Given the description of an element on the screen output the (x, y) to click on. 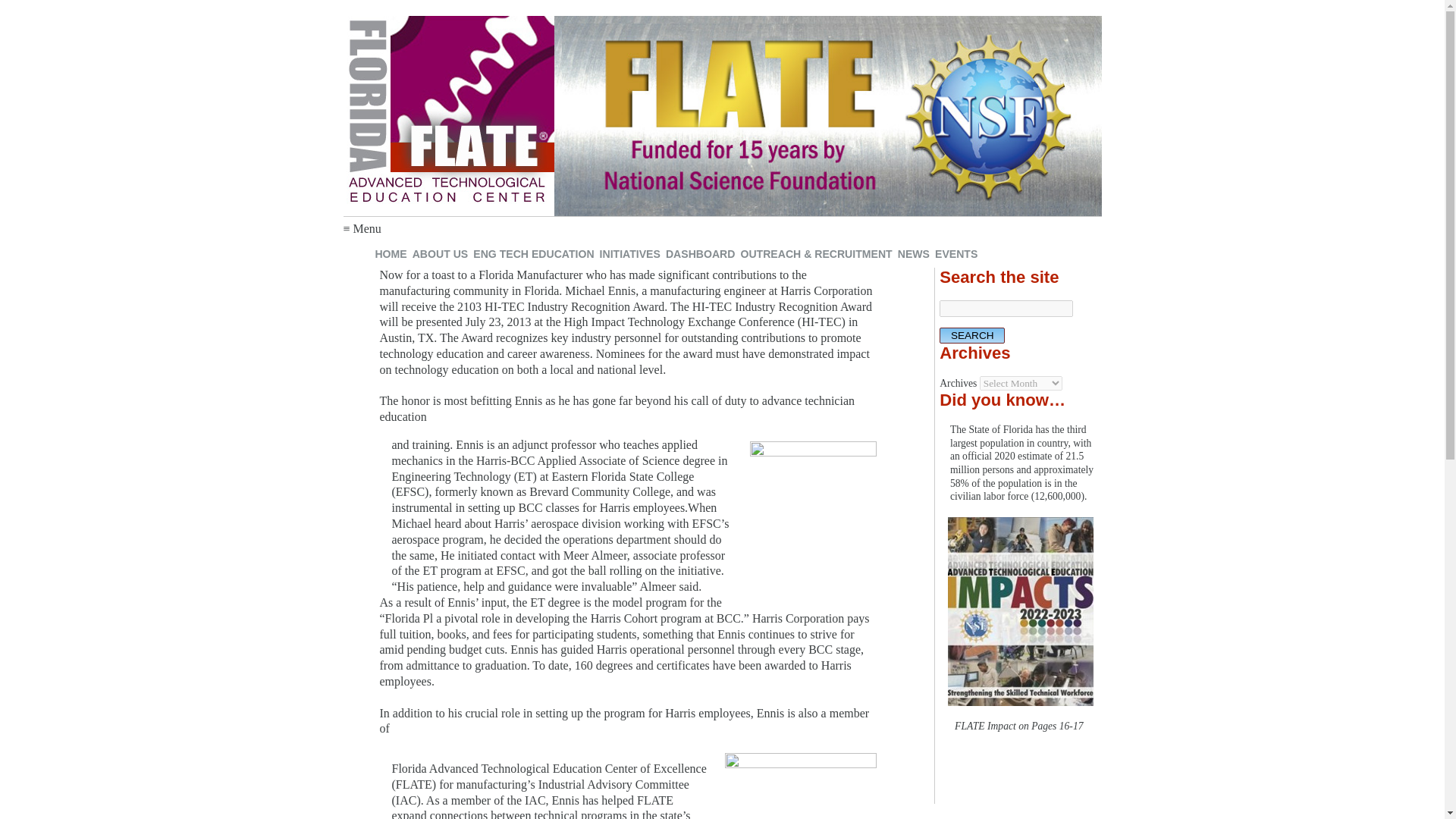
Search (971, 335)
INITIATIVES (629, 253)
ENG TECH EDUCATION (533, 253)
HOME (390, 253)
DASHBOARD (700, 253)
ABOUT US (439, 253)
